Given the description of an element on the screen output the (x, y) to click on. 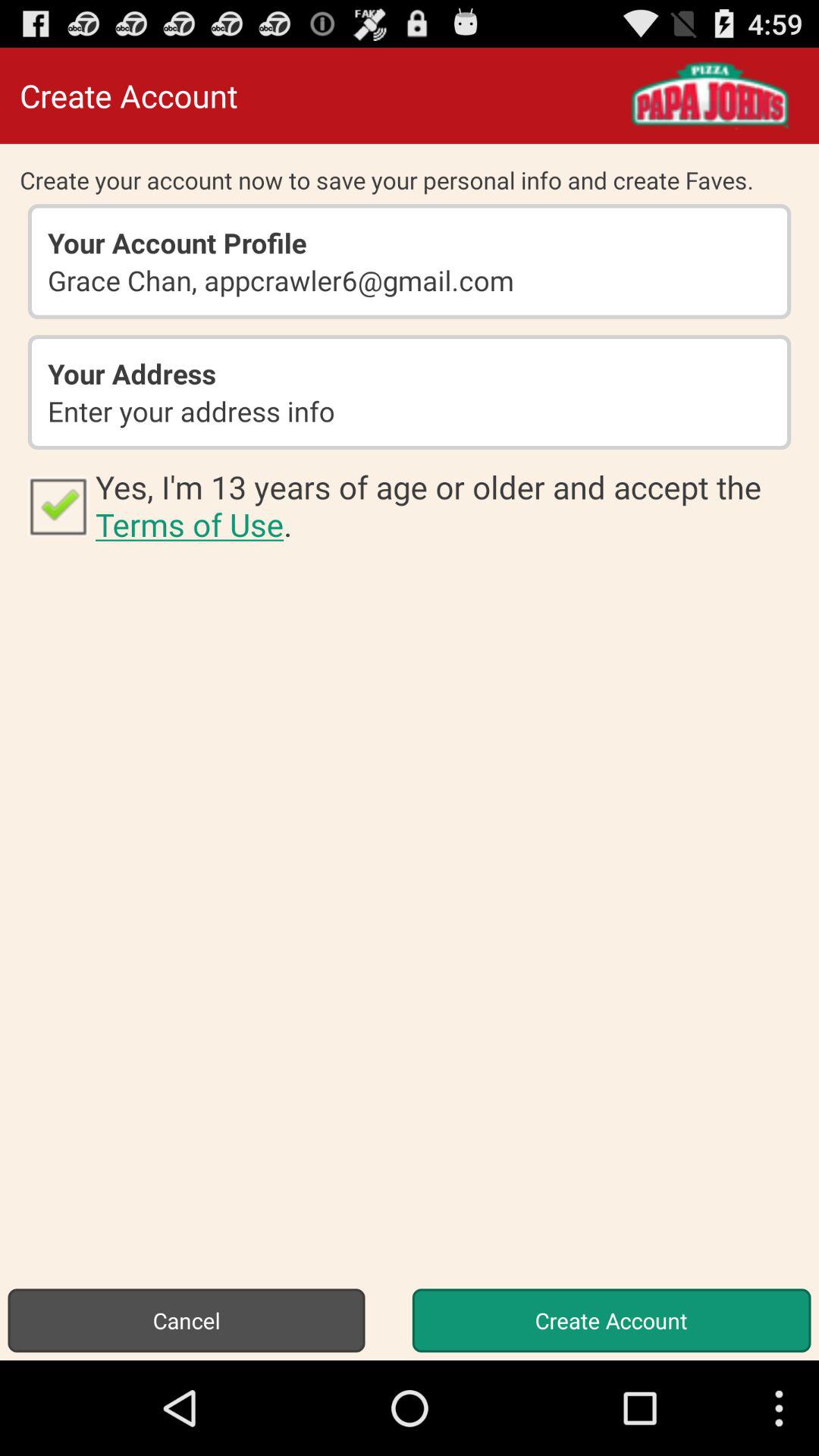
turn on icon to the left of the yes i m icon (57, 505)
